Given the description of an element on the screen output the (x, y) to click on. 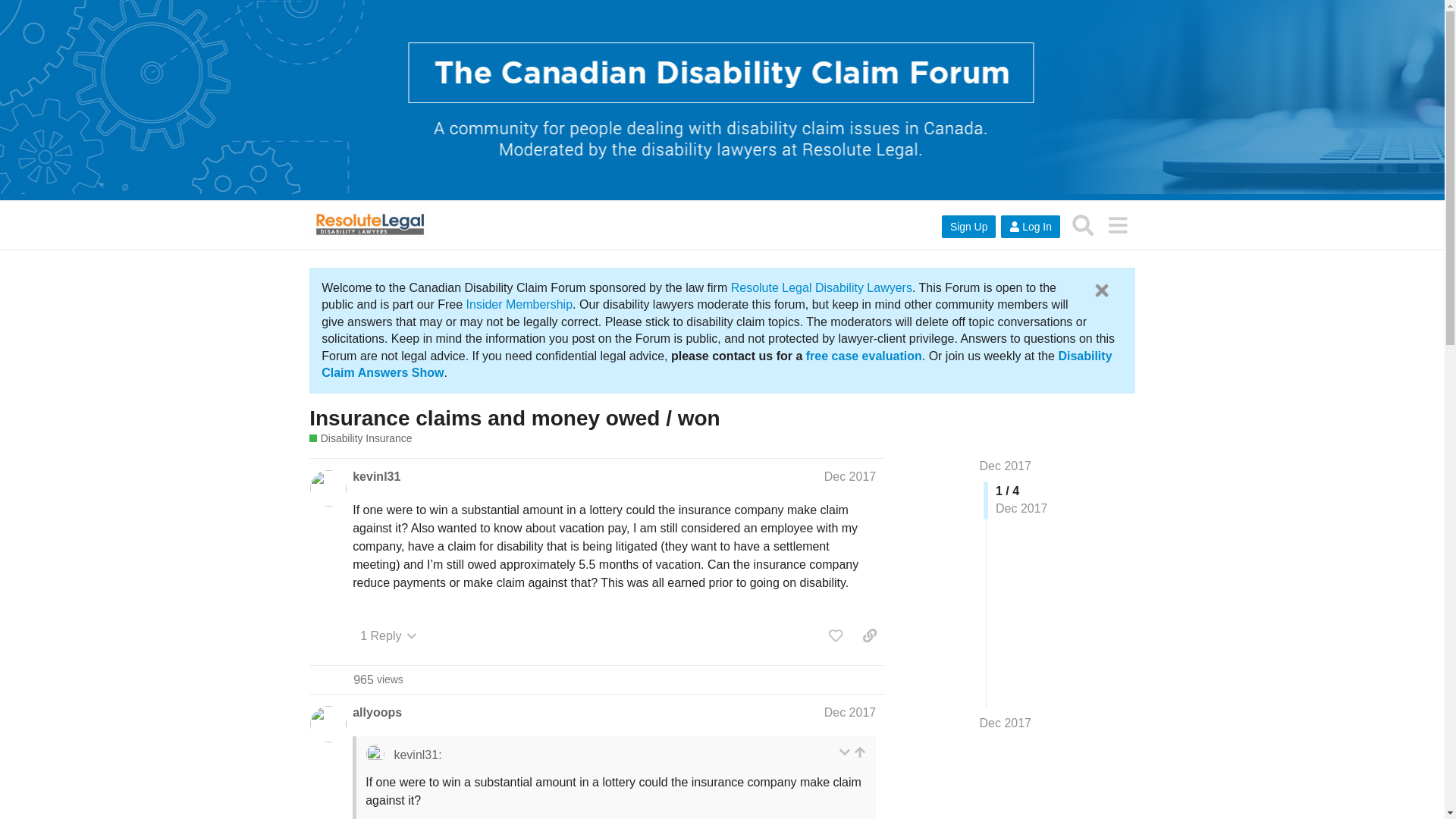
Resolute Legal Disability Lawyers (821, 287)
Dec 2017 (850, 712)
free case evaluation (863, 355)
Post date (377, 679)
menu (850, 712)
go to the quoted post (1117, 224)
1 Reply (859, 752)
Dec 2017 (387, 636)
